Given the description of an element on the screen output the (x, y) to click on. 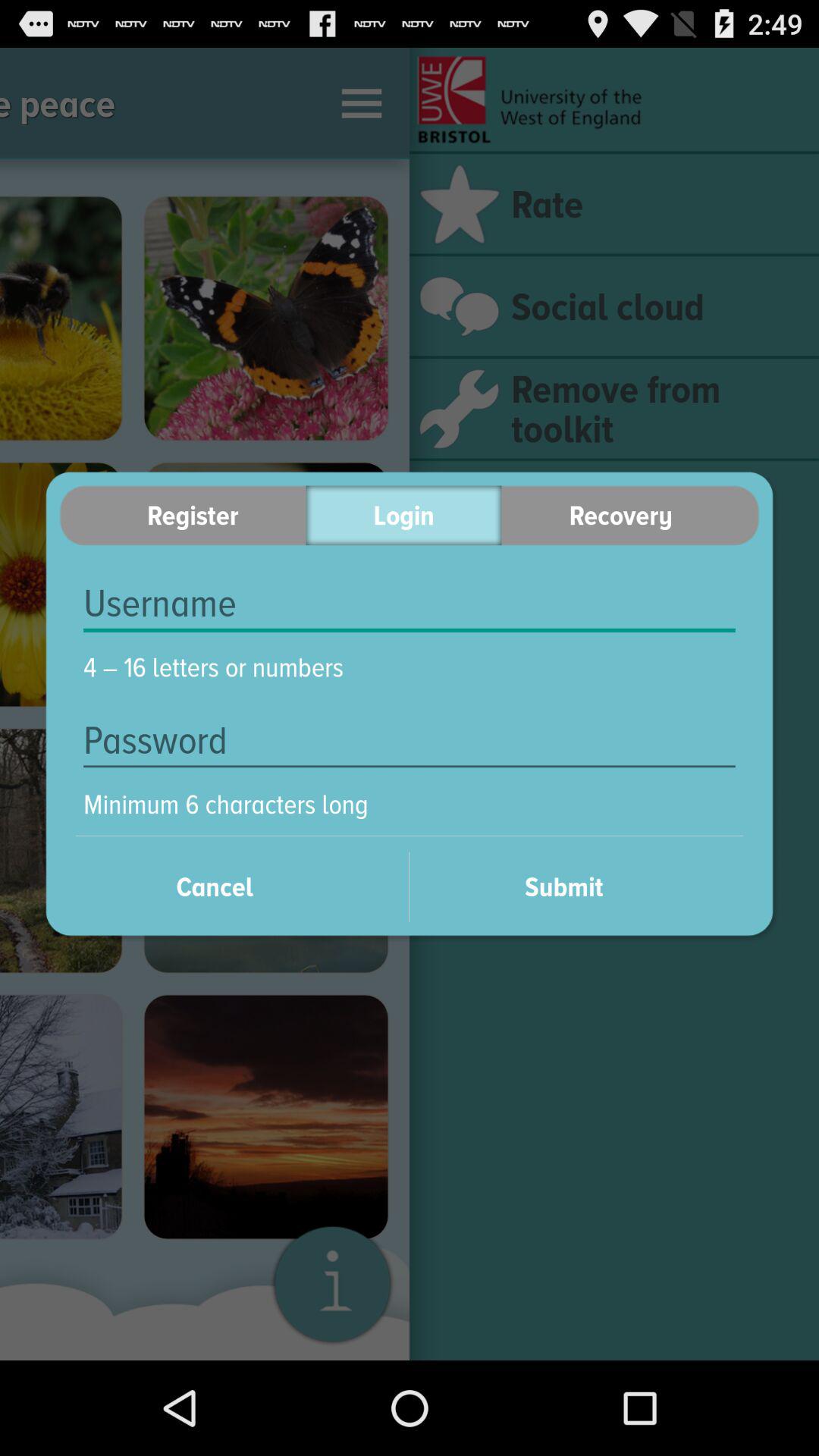
choose item to the left of the recovery icon (403, 515)
